Given the description of an element on the screen output the (x, y) to click on. 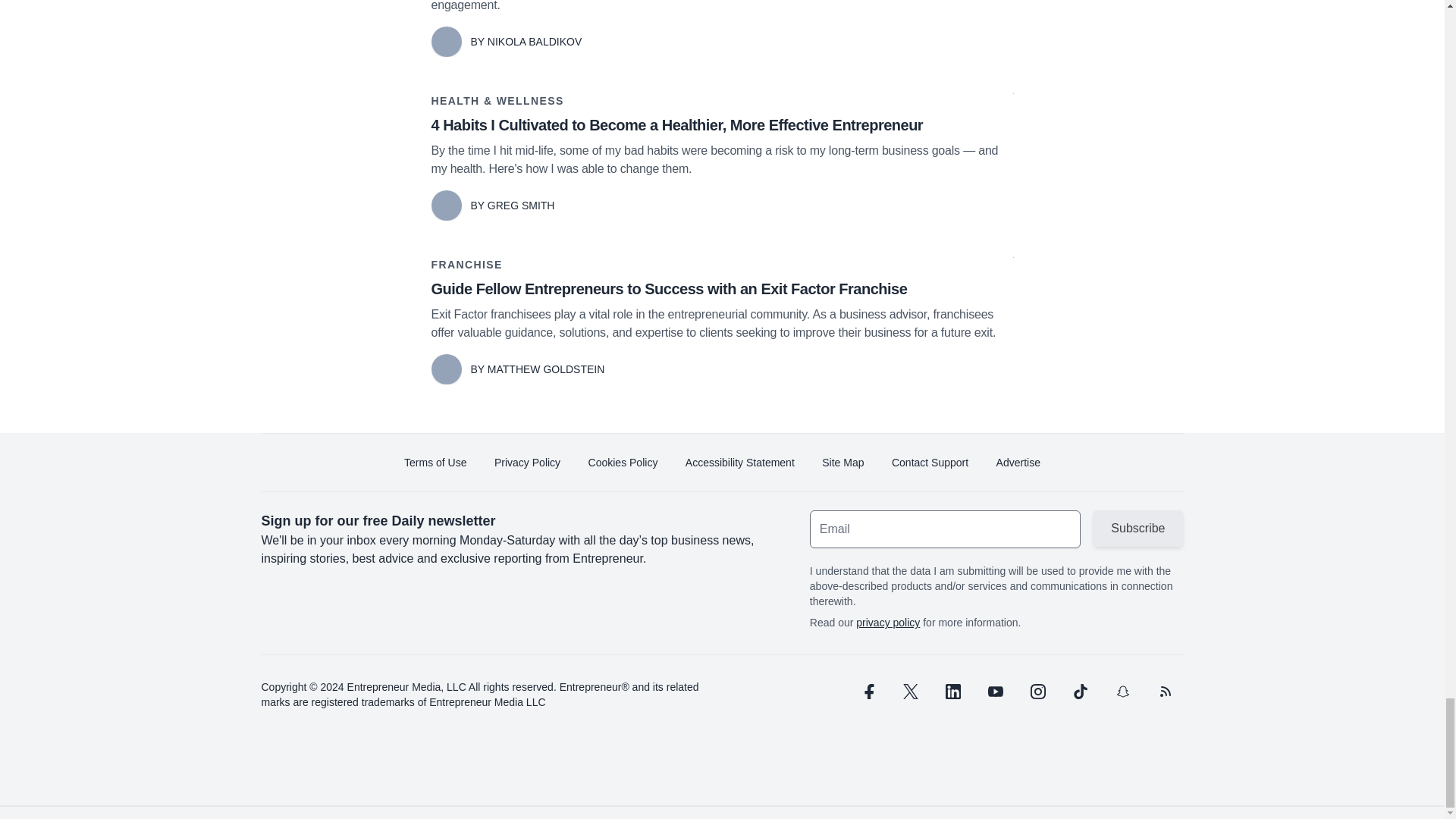
facebook (866, 691)
tiktok (1079, 691)
twitter (909, 691)
youtube (994, 691)
instagram (1037, 691)
snapchat (1121, 691)
linkedin (952, 691)
